Given the description of an element on the screen output the (x, y) to click on. 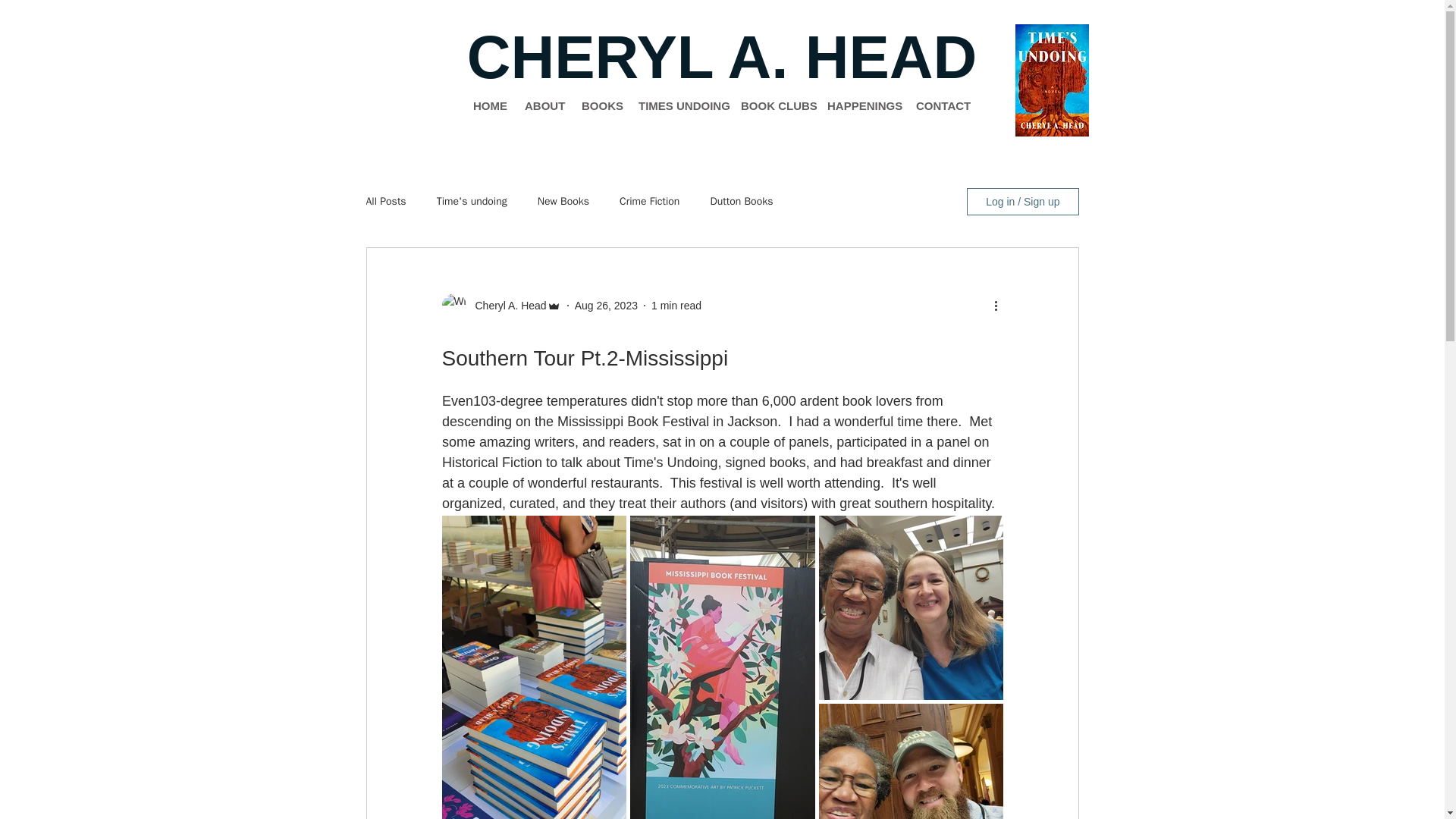
ABOUT (541, 105)
TIMES UNDOING (678, 105)
Crime Fiction (649, 201)
Cheryl A. Head (505, 304)
New Books (563, 201)
CONTACT (937, 105)
HOME (487, 105)
HAPPENINGS (859, 105)
Aug 26, 2023 (606, 304)
All Posts (385, 201)
BOOK CLUBS (772, 105)
1 min read (675, 304)
Dutton Books (741, 201)
BOOKS (598, 105)
Time's undoing (471, 201)
